Given the description of an element on the screen output the (x, y) to click on. 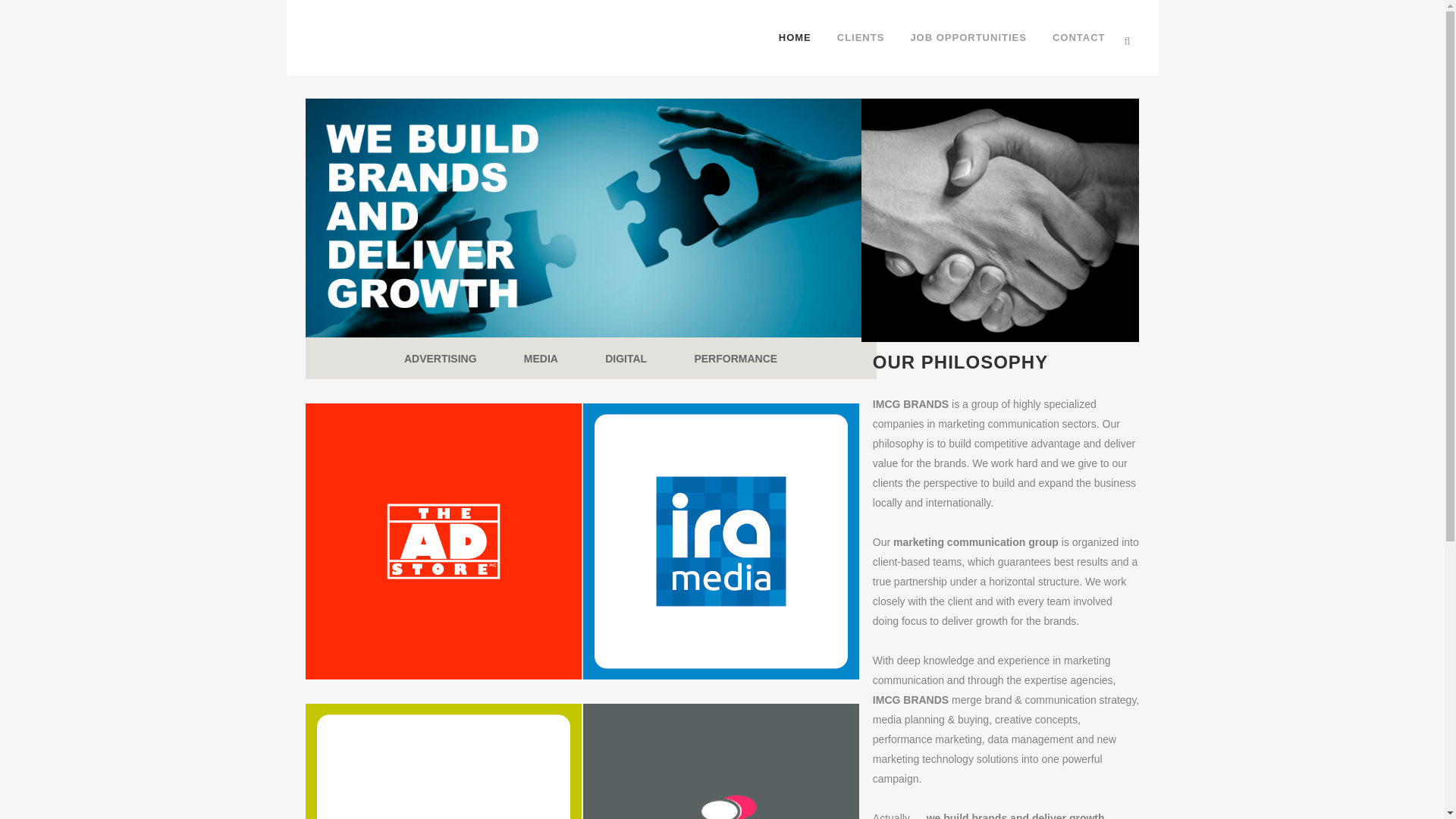
CLIENTS (722, 38)
CONTACT (861, 38)
JOB OPPORTUNITIES (1078, 38)
PERFORMANCE (967, 38)
ADVERTISING (735, 358)
DIGITAL (440, 358)
MEDIA (625, 358)
